Given the description of an element on the screen output the (x, y) to click on. 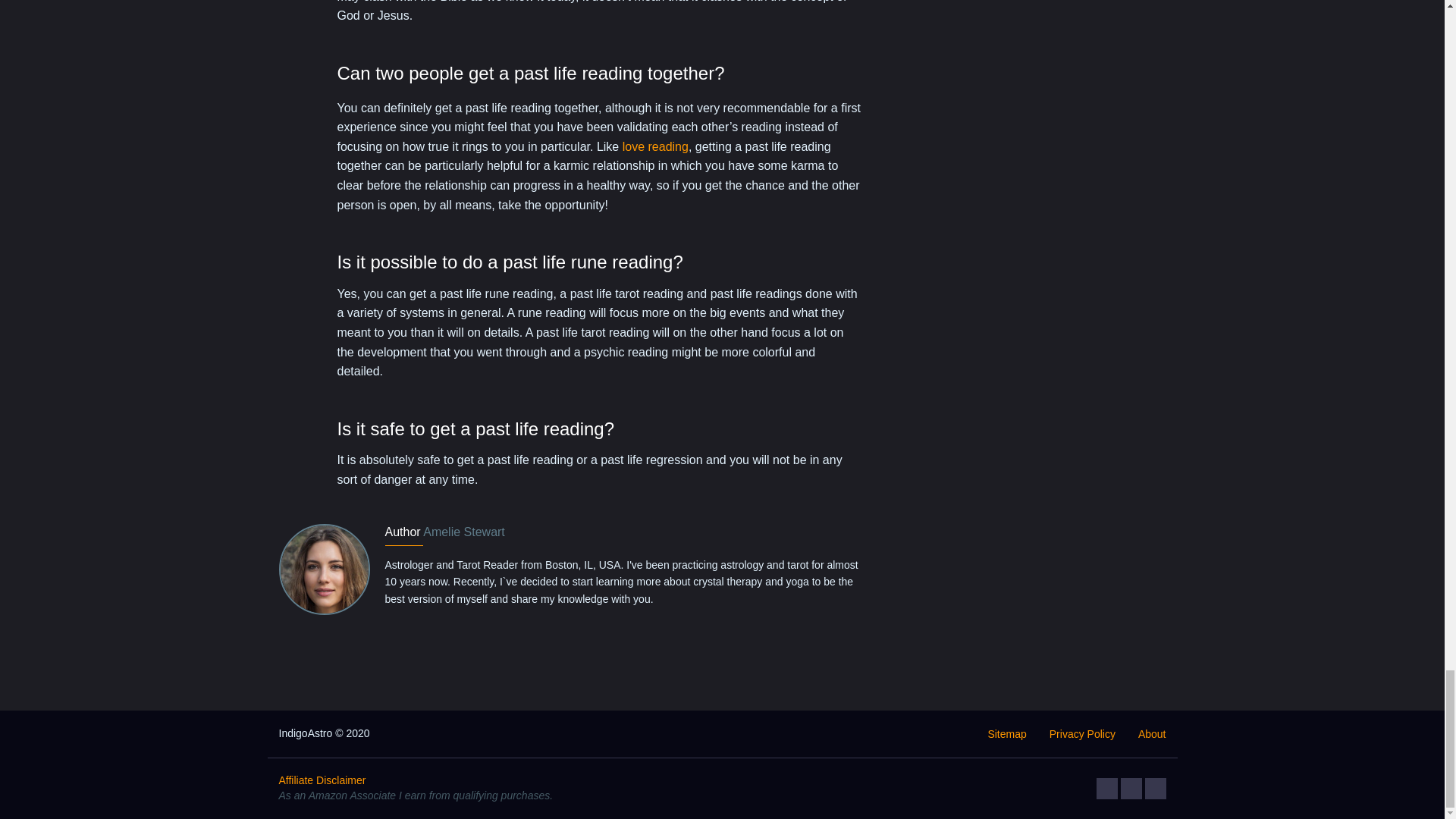
Amelie Stewart (464, 531)
About (1152, 734)
Privacy Policy (1082, 734)
Sitemap (1006, 734)
Affiliate Disclaimer (322, 779)
love reading (655, 146)
